Given the description of an element on the screen output the (x, y) to click on. 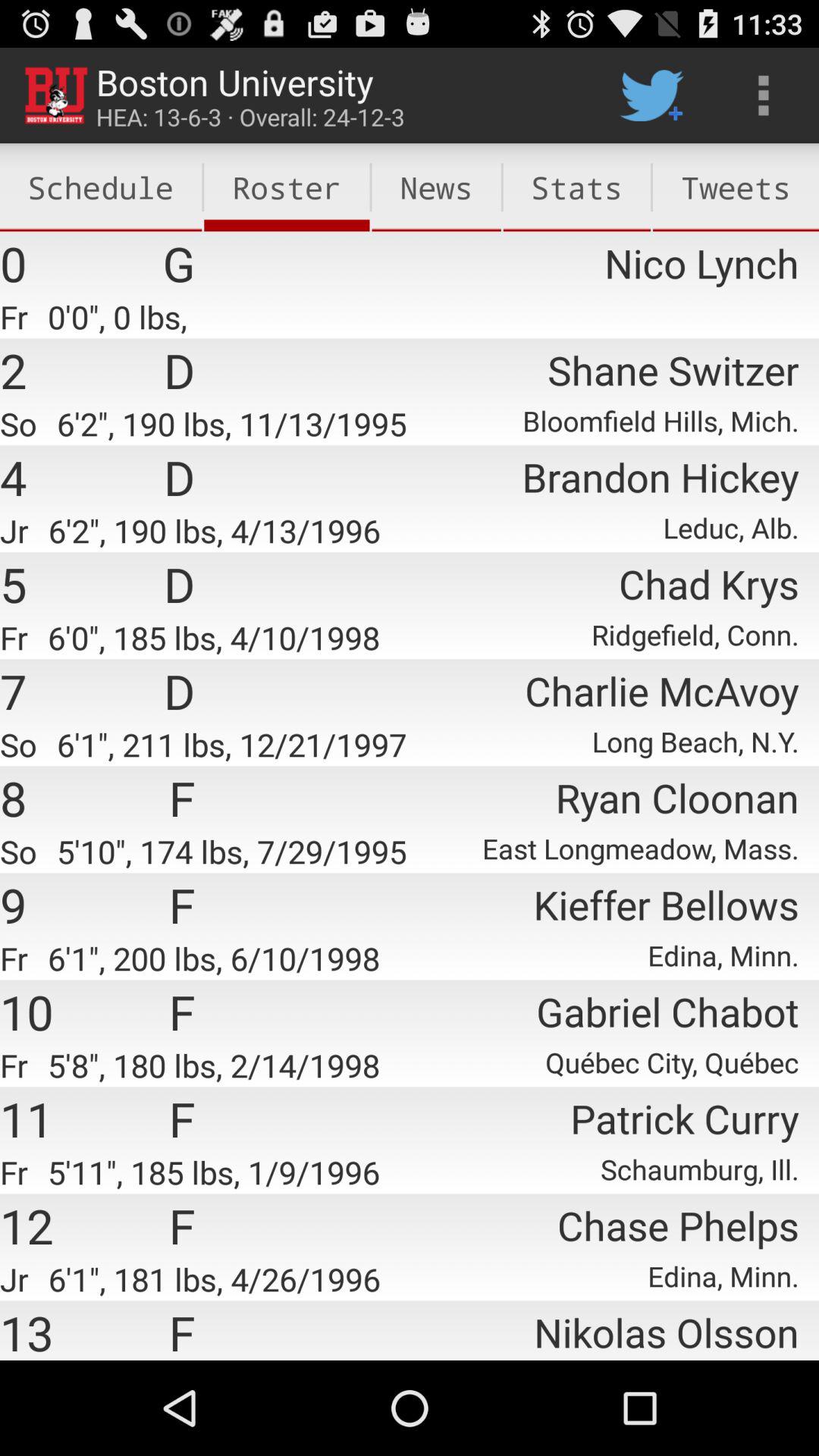
press the news (436, 187)
